Given the description of an element on the screen output the (x, y) to click on. 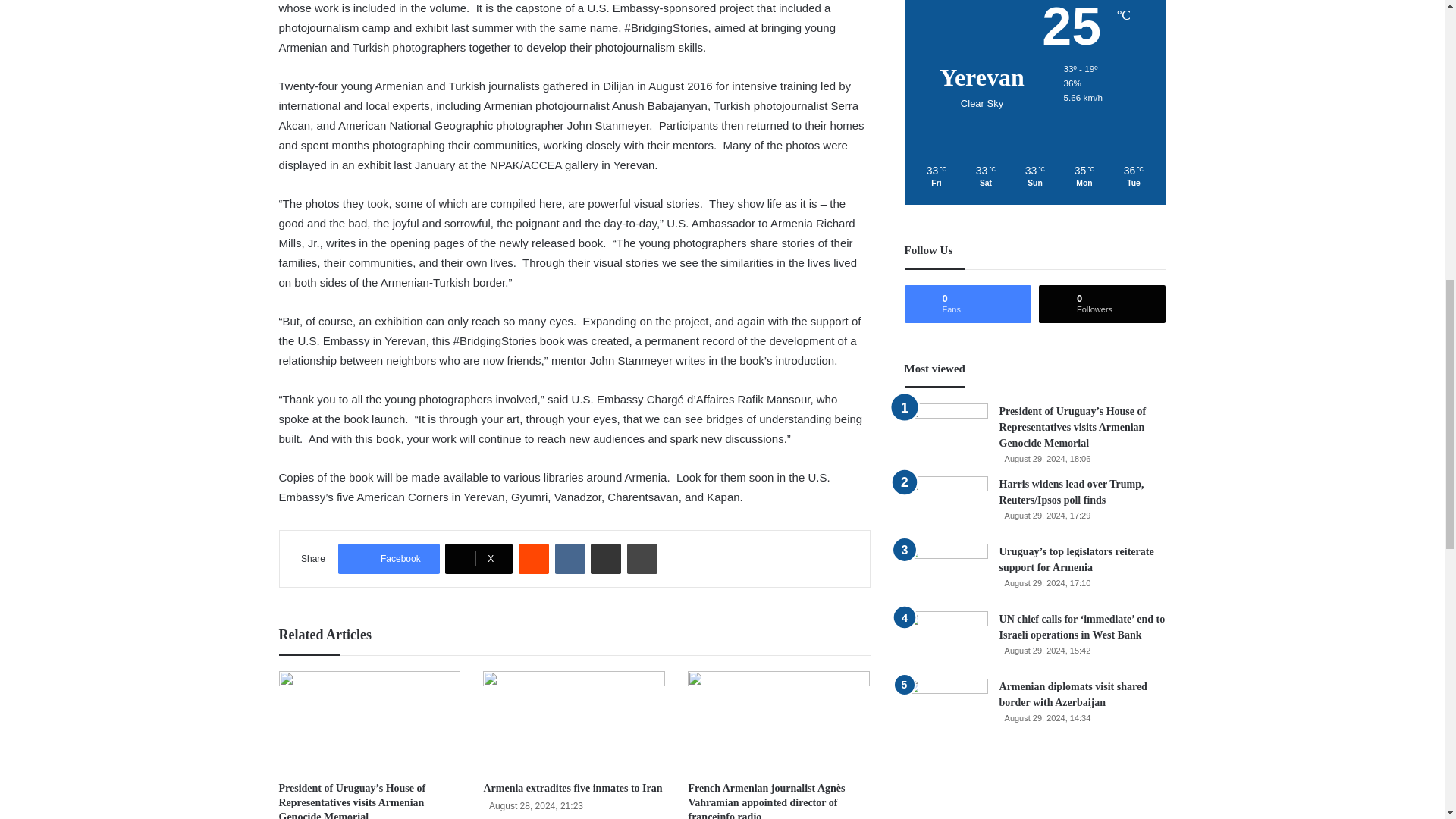
VKontakte (569, 558)
Print (642, 558)
Share via Email (606, 558)
X (478, 558)
Reddit (533, 558)
Facebook (388, 558)
